Given the description of an element on the screen output the (x, y) to click on. 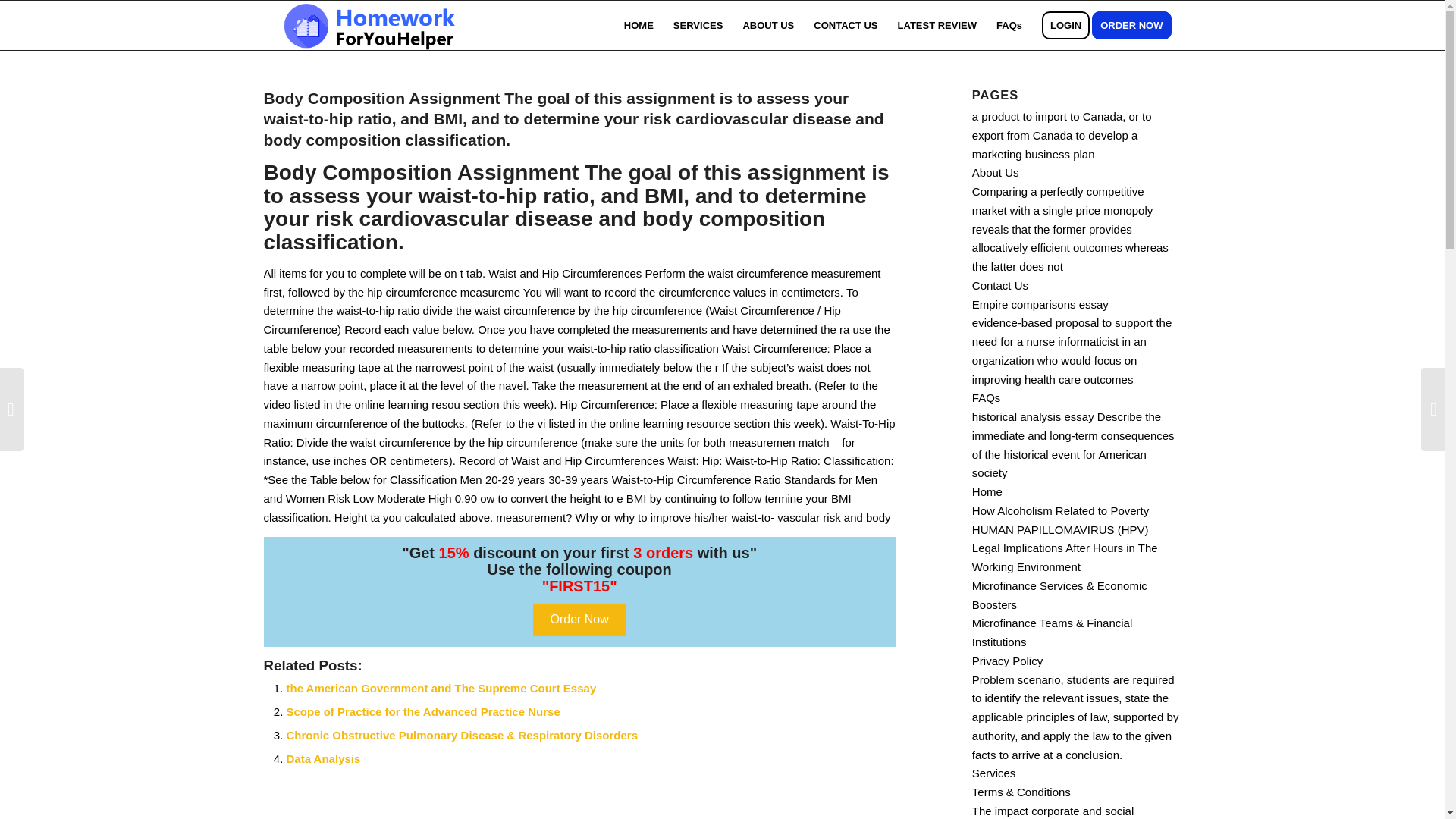
Contact Us (999, 285)
Home (987, 491)
HOME (638, 24)
LATEST REVIEW (937, 24)
LOGIN (1065, 24)
Data Analysis (323, 758)
SERVICES (698, 24)
